Given the description of an element on the screen output the (x, y) to click on. 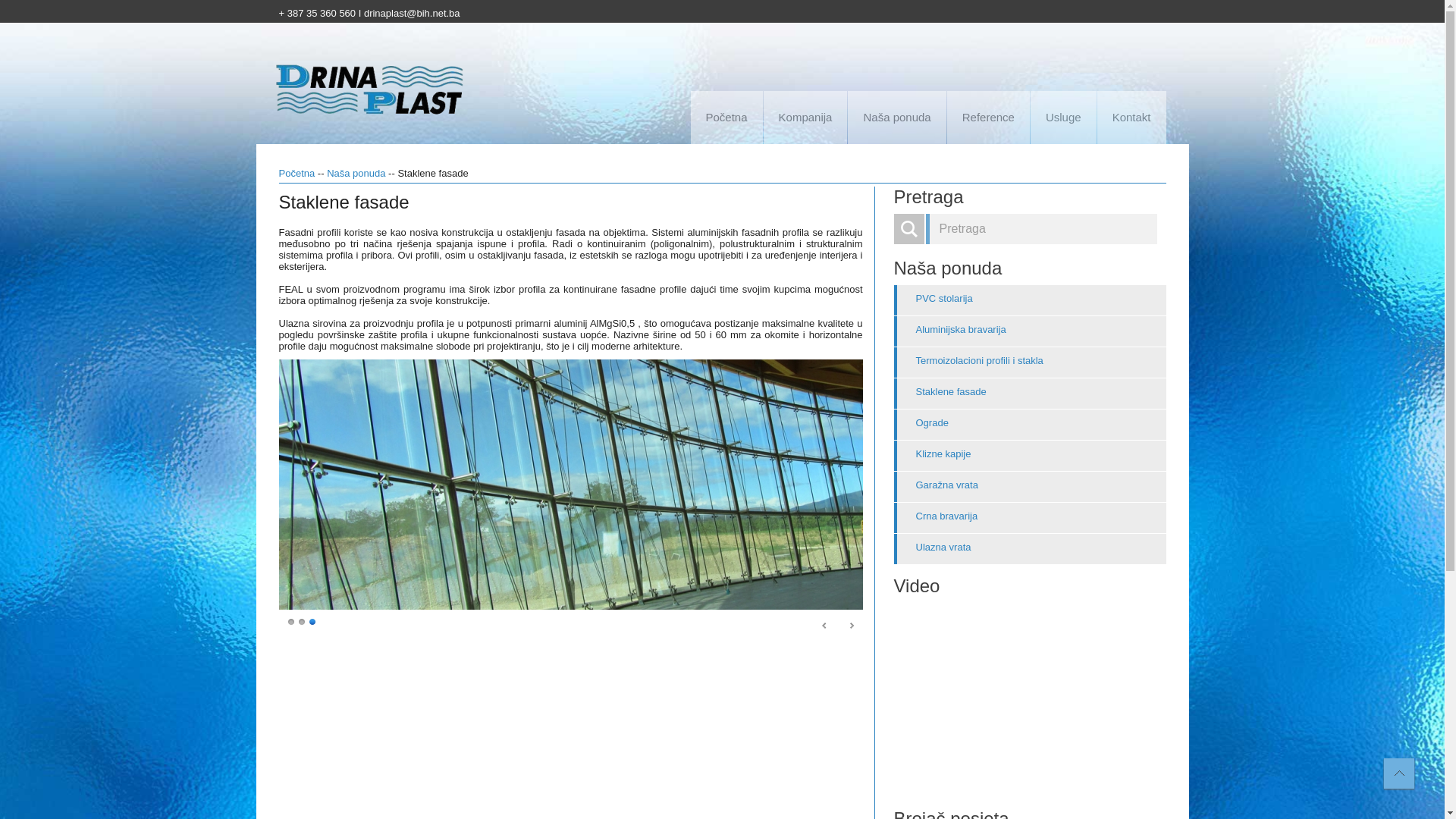
Ulazna vrata Element type: text (1029, 548)
Aluminijska bravarija Element type: text (1029, 331)
Kompanija Element type: text (805, 117)
1 Element type: text (291, 620)
Ograde Element type: text (1029, 424)
Crna bravarija Element type: text (1029, 517)
Klizne kapije Element type: text (1029, 455)
drinaplast@bih.net.ba Element type: text (412, 12)
Kontakt Element type: text (1131, 117)
2 Element type: text (302, 620)
Usluge Element type: text (1063, 117)
Staklene fasade Element type: text (1029, 393)
Termoizolacioni profili i stakla Element type: text (1029, 362)
Reference Element type: text (988, 117)
PVC stolarija Element type: text (1029, 300)
3 Element type: text (312, 620)
